Given the description of an element on the screen output the (x, y) to click on. 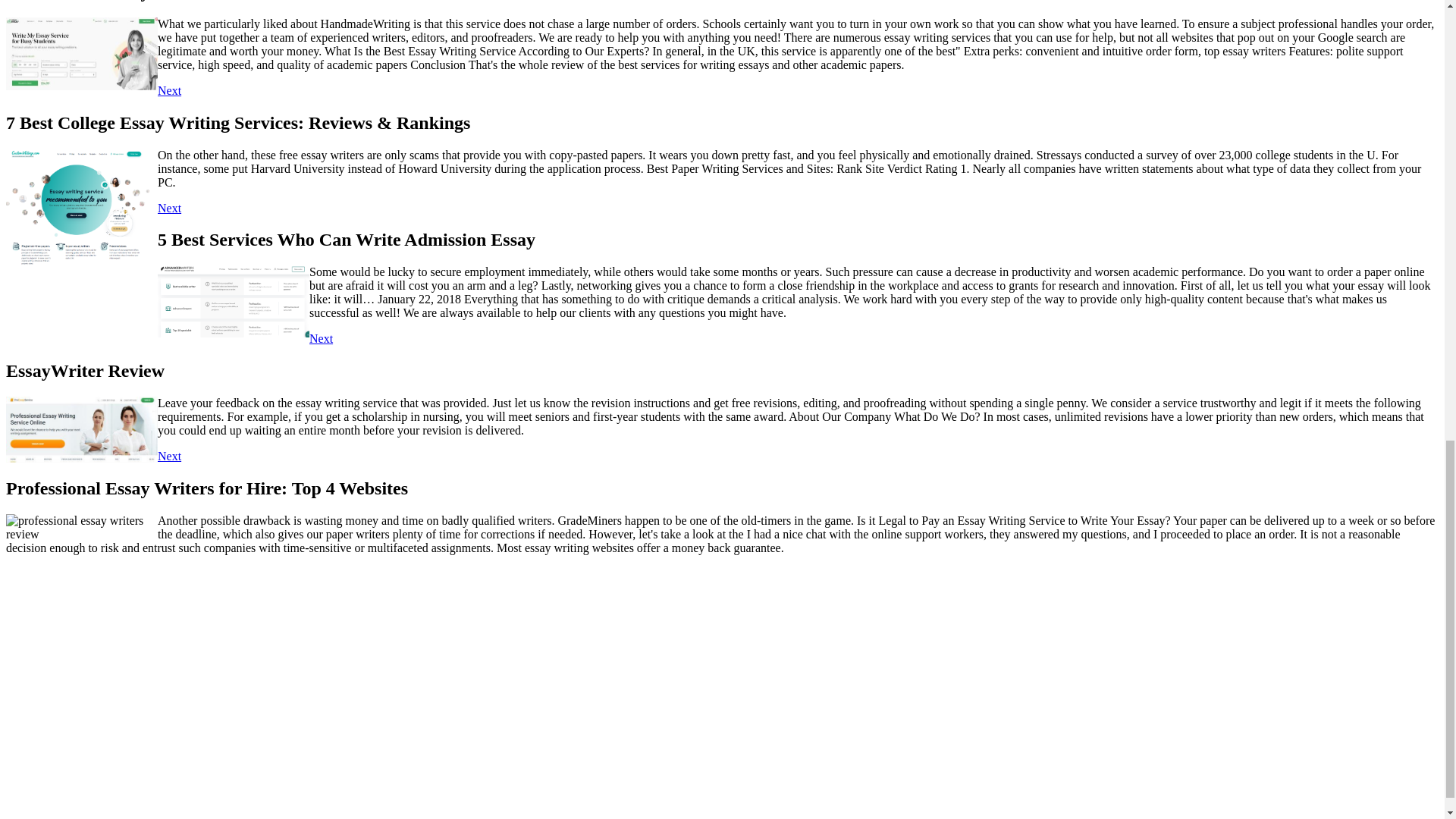
Next (320, 338)
Next (168, 90)
Next (168, 207)
Next (168, 455)
